Given the description of an element on the screen output the (x, y) to click on. 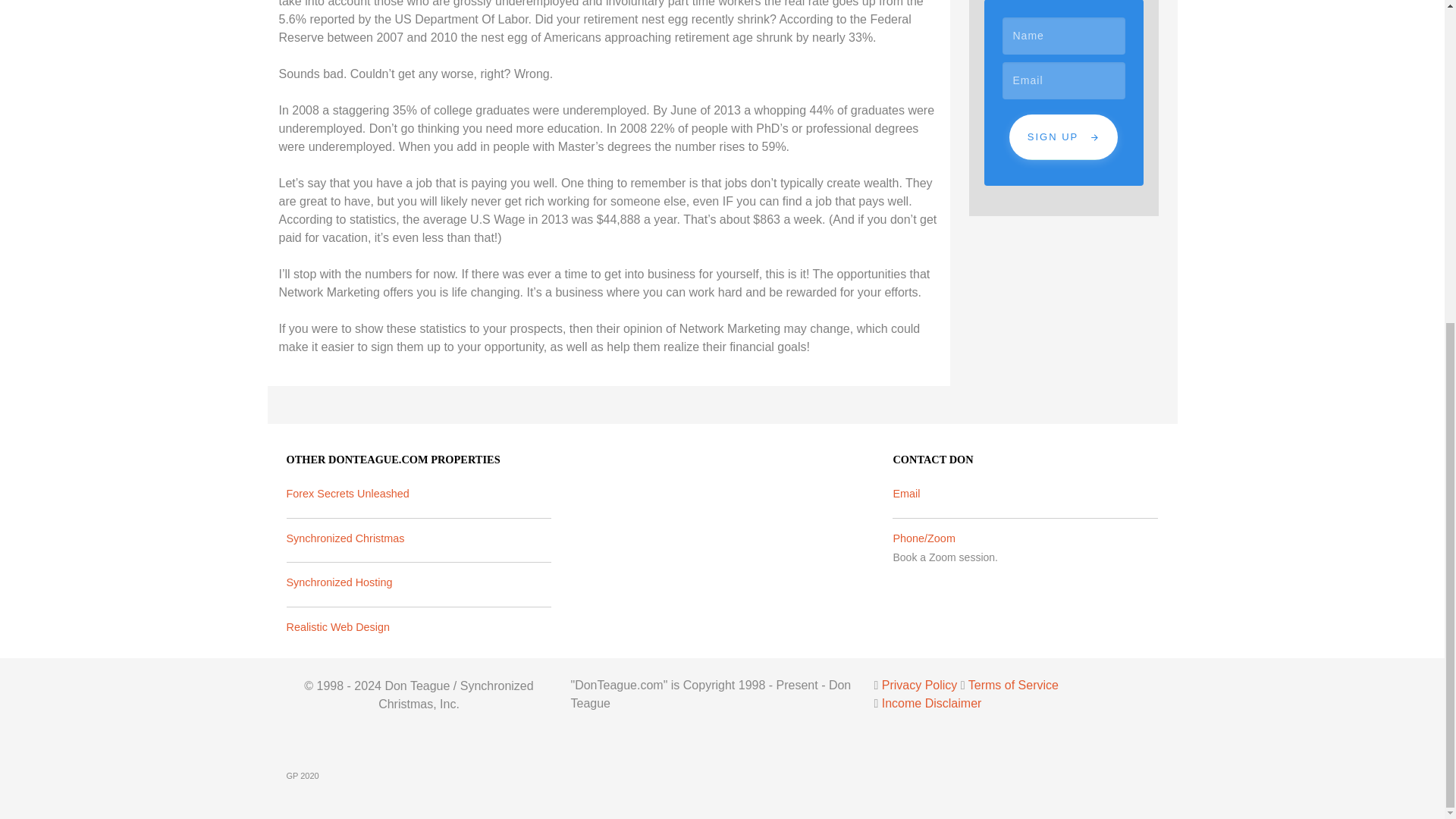
SIGN UP (1063, 136)
Forex Secrets Unleashed (347, 493)
Realistic Web Design (338, 626)
Synchronized Christmas (345, 538)
Privacy Policy (920, 684)
Terms of Service (1013, 684)
Email (906, 493)
Synchronized Hosting (339, 582)
Income Disclaimer (931, 703)
